Given the description of an element on the screen output the (x, y) to click on. 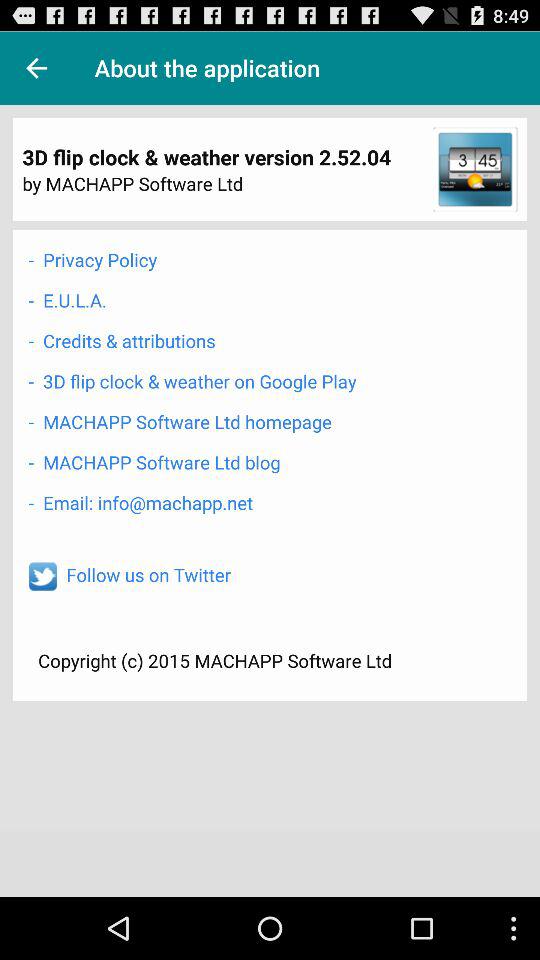
tap item above 3d flip clock icon (36, 68)
